Given the description of an element on the screen output the (x, y) to click on. 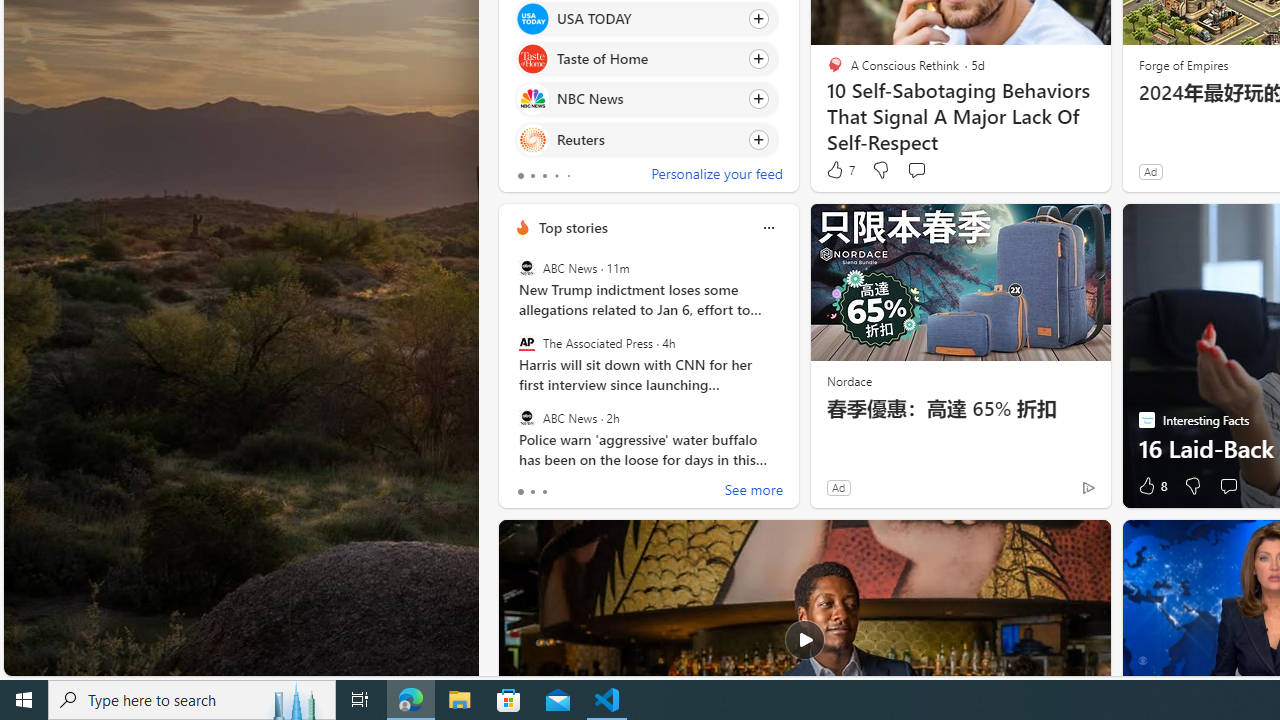
Click to follow source Reuters (646, 138)
Click to follow source USA TODAY (646, 18)
Ad Choice (1087, 487)
Taste of Home (532, 59)
Click to follow source Taste of Home (646, 59)
Click to follow source NBC News (646, 99)
Top stories (572, 227)
